Given the description of an element on the screen output the (x, y) to click on. 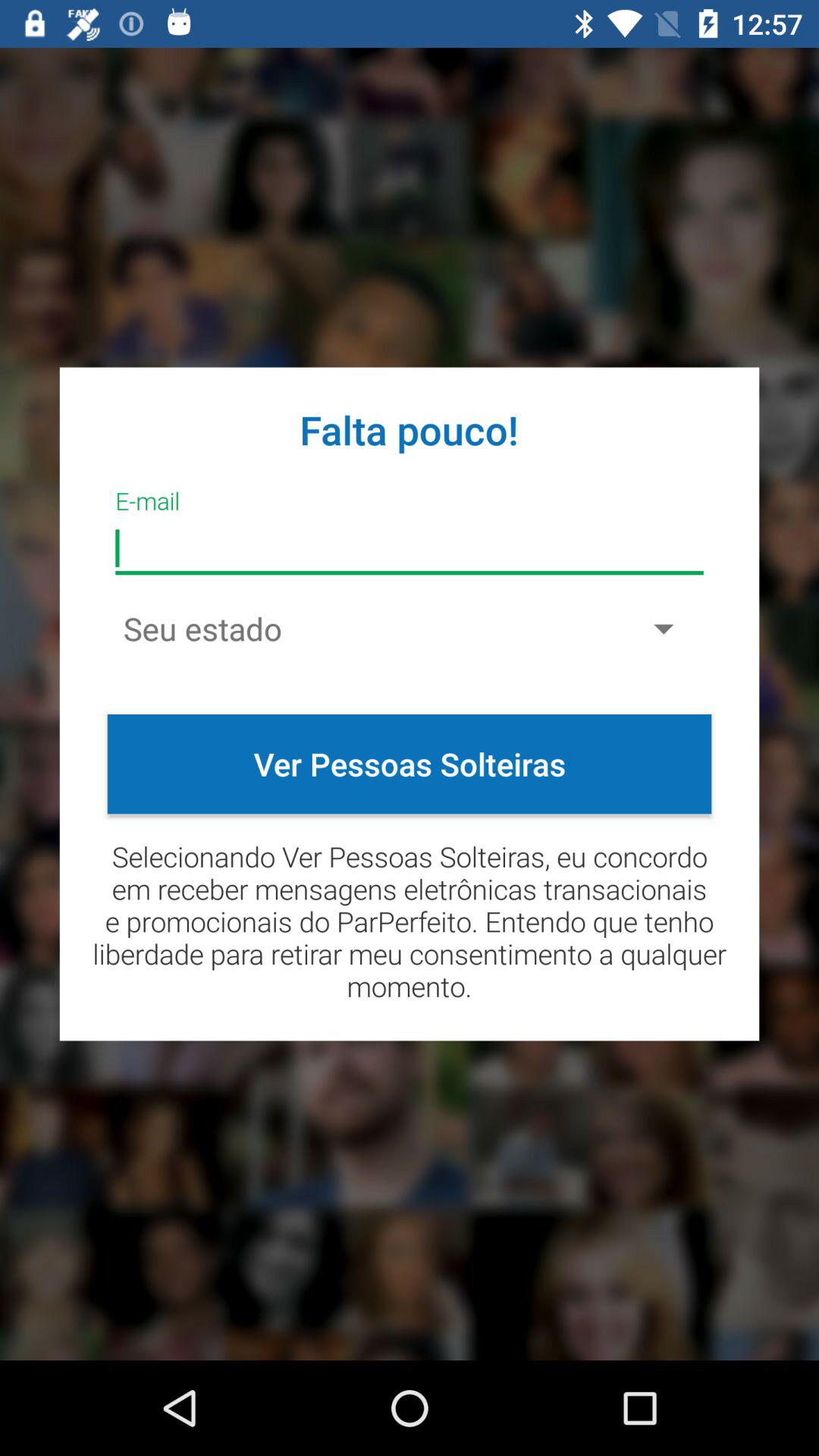
e-mail (409, 548)
